Given the description of an element on the screen output the (x, y) to click on. 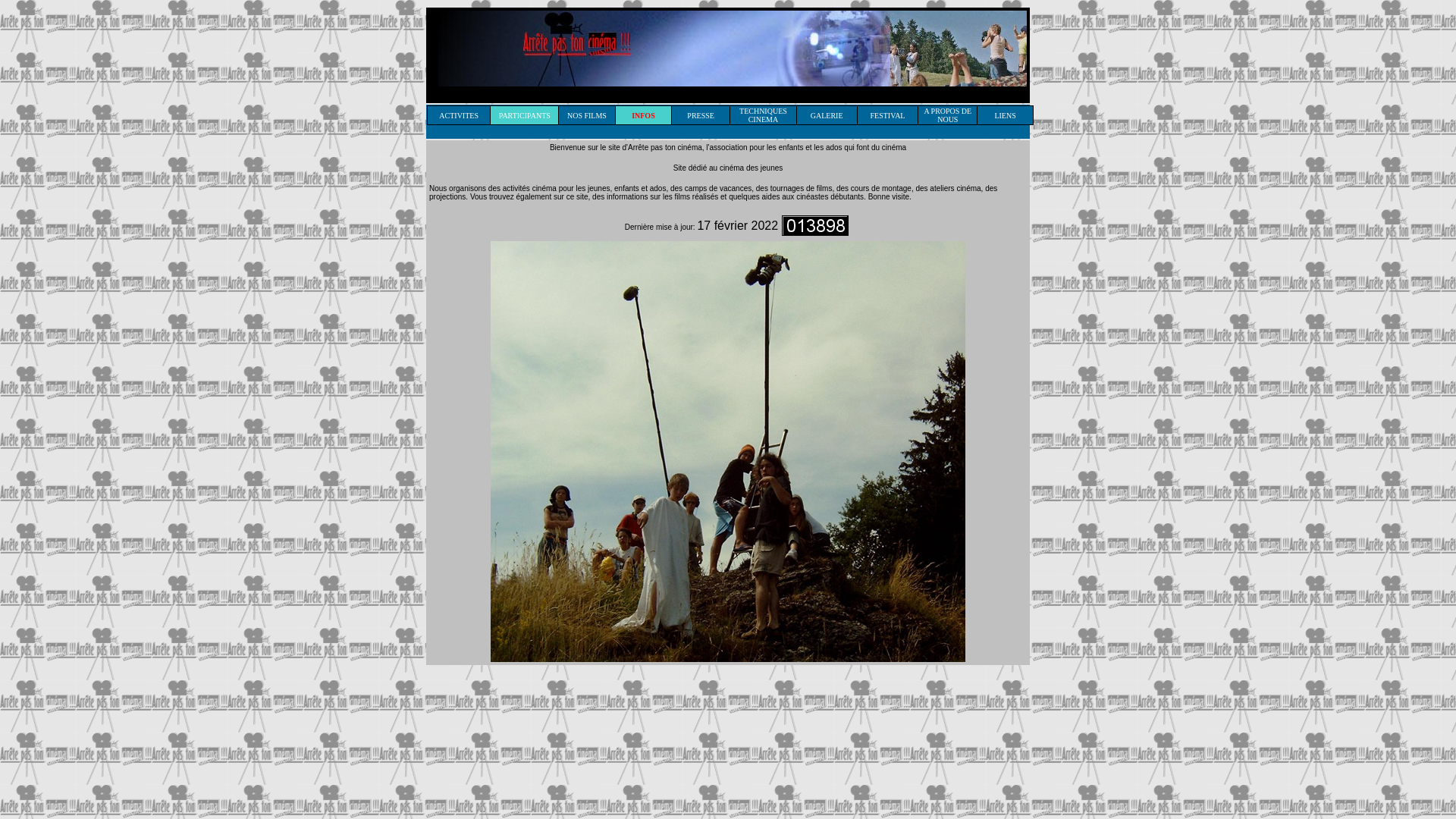
GALERIE Element type: text (826, 113)
PARTICIPANTS Element type: text (524, 113)
FESTIVAL Element type: text (887, 113)
PRESSE Element type: text (700, 113)
ACTIVITES Element type: text (458, 113)
A PROPOS DE NOUS Element type: text (947, 113)
INFOS Element type: text (643, 113)
NOS FILMS Element type: text (586, 113)
TECHNIQUES CINEMA Element type: text (763, 113)
LIENS Element type: text (1004, 113)
